Given the description of an element on the screen output the (x, y) to click on. 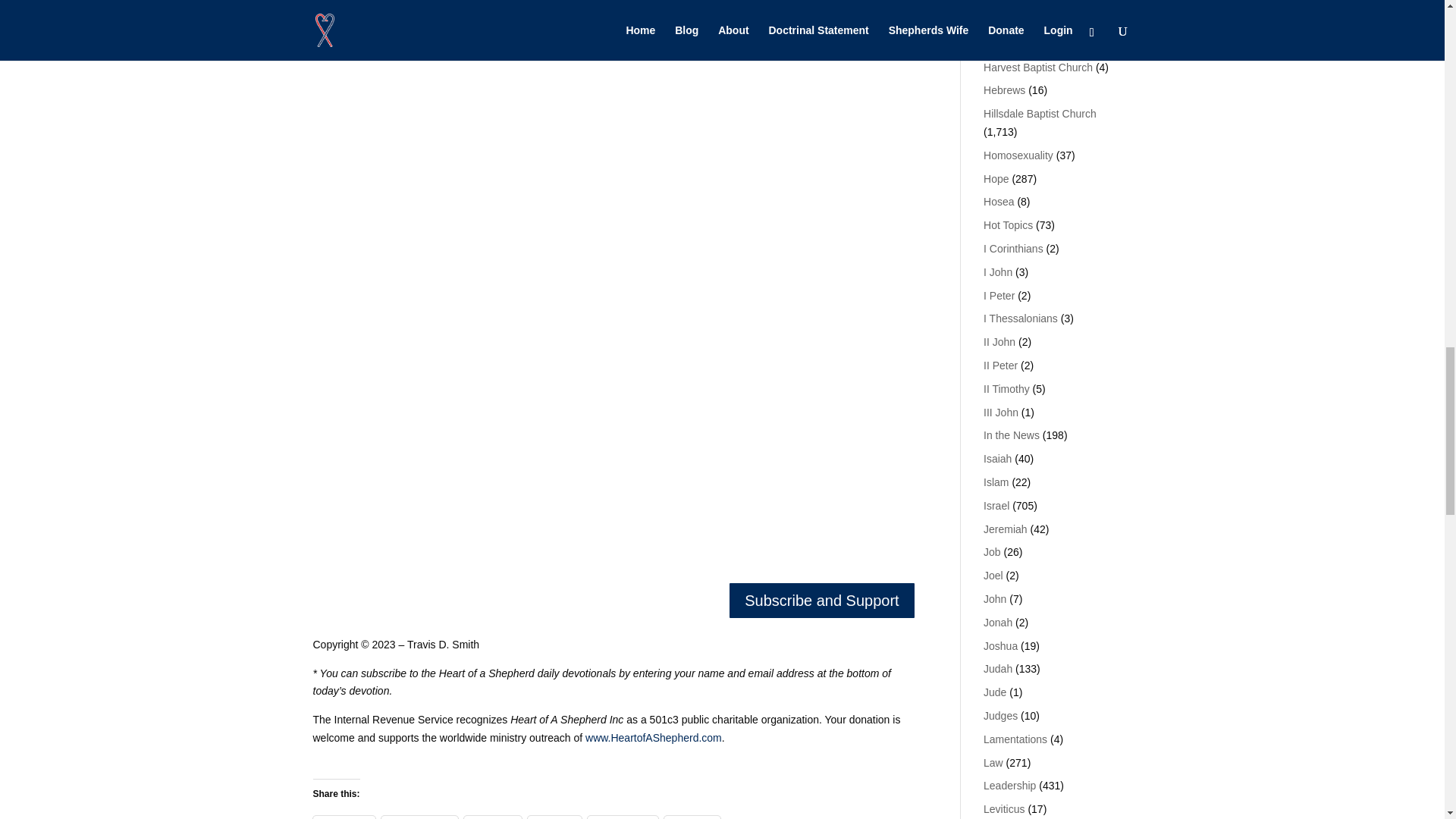
Click to share on LinkedIn (623, 817)
www.HeartofAShepherd.com (653, 737)
Twitter (343, 817)
Click to email a link to a friend (493, 817)
www.HeartofAShepherd.com (380, 52)
Print (553, 817)
Click to print (553, 817)
Email (493, 817)
Click to share on Twitter (343, 817)
LinkedIn (623, 817)
More (691, 817)
Click to share on Facebook (419, 817)
Facebook (419, 817)
Subscribe and Support (821, 600)
